Given the description of an element on the screen output the (x, y) to click on. 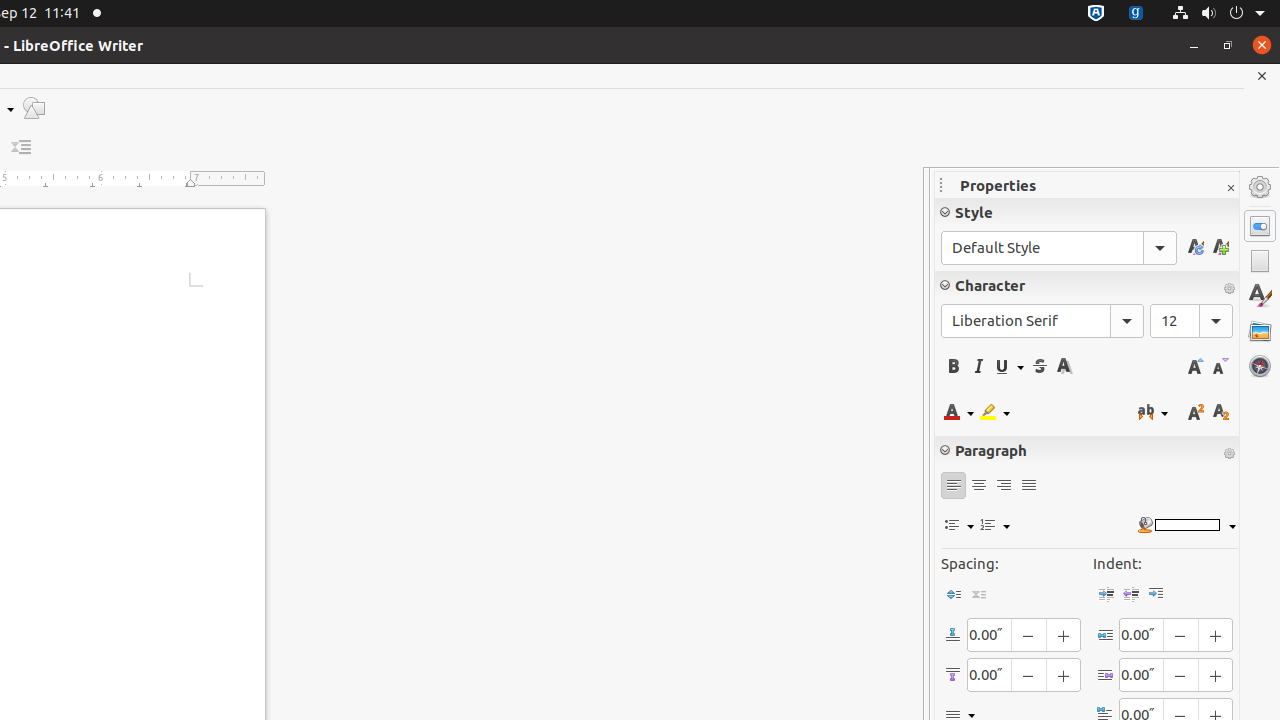
Hanging Indent Element type: push-button (1155, 594)
Close Sidebar Deck Element type: push-button (1230, 188)
Decrease Element type: push-button (21, 147)
System Element type: menu (1218, 13)
More Options Element type: push-button (1229, 454)
